Given the description of an element on the screen output the (x, y) to click on. 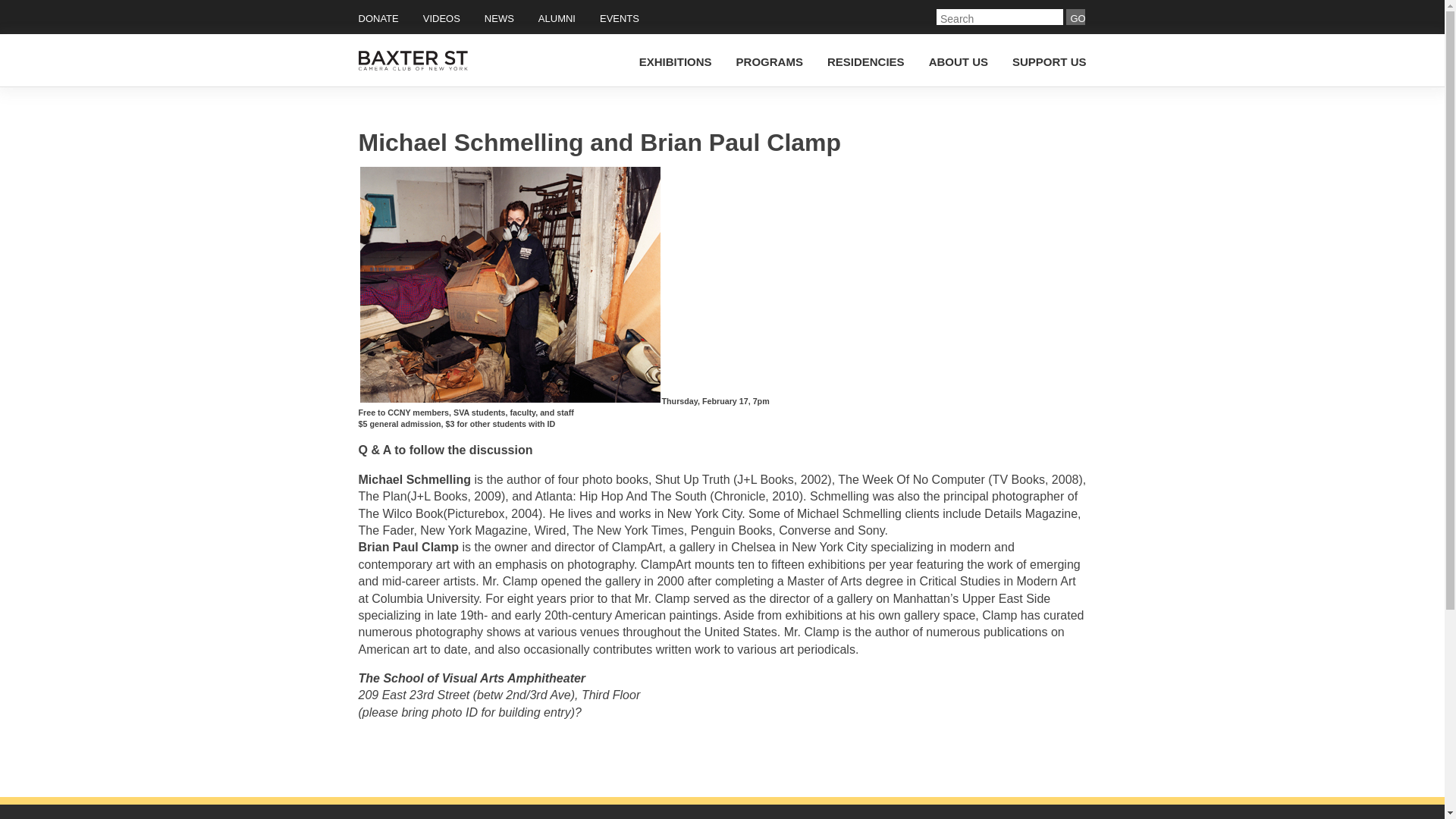
DONATE (377, 19)
EXHIBITIONS (675, 60)
RESIDENCIES (865, 60)
PROGRAMS (769, 60)
VIDEOS (441, 19)
GO (1074, 17)
ABOUT US (958, 60)
NEWS (498, 19)
ALUMNI (556, 19)
SUPPORT US (1048, 60)
EVENTS (619, 19)
